Given the description of an element on the screen output the (x, y) to click on. 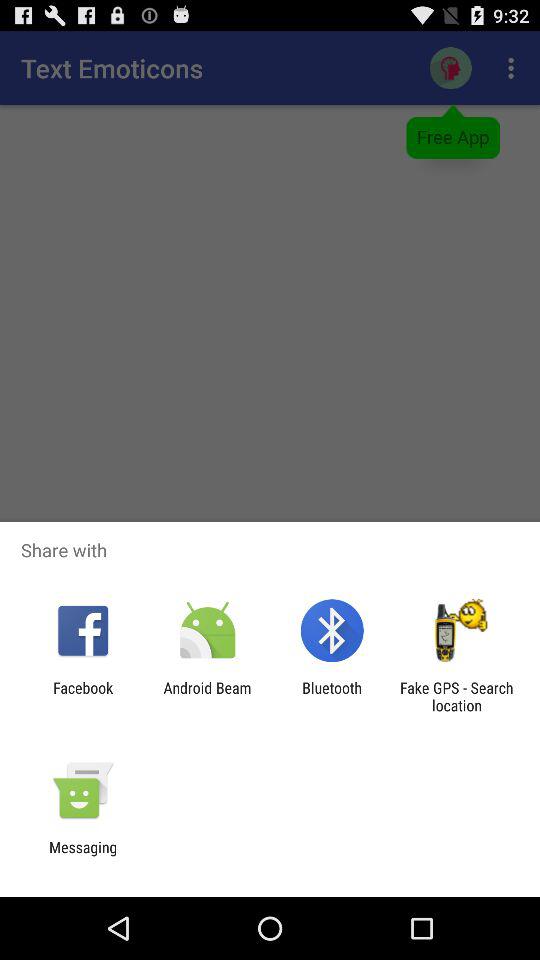
open icon to the right of android beam (331, 696)
